Given the description of an element on the screen output the (x, y) to click on. 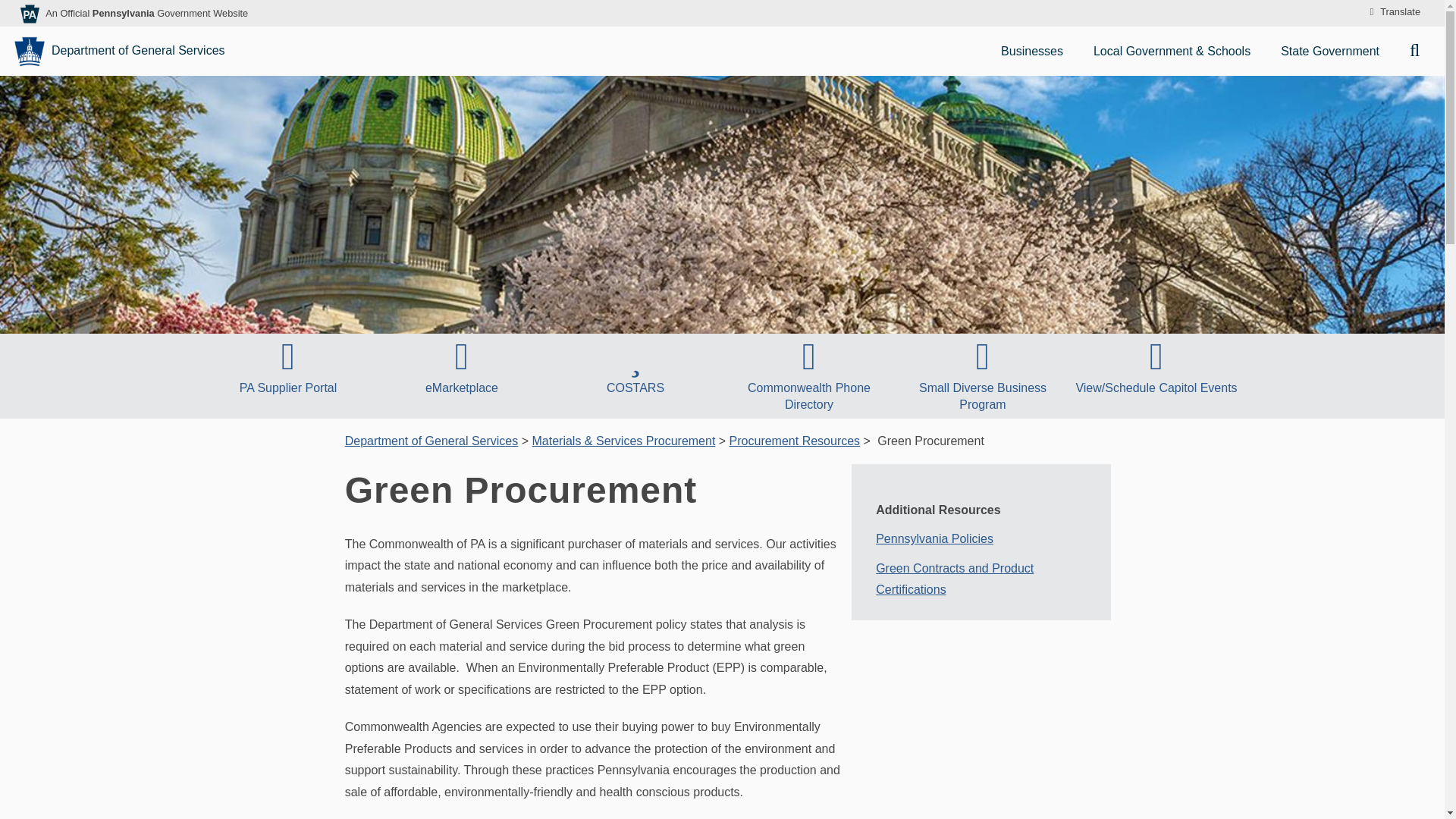
Businesses (1034, 51)
Department of General Services (121, 51)
Search (1420, 51)
State Government (1332, 51)
Department of General Services (431, 440)
An Official Pennsylvania Government Website (146, 11)
Translate (1393, 12)
